Given the description of an element on the screen output the (x, y) to click on. 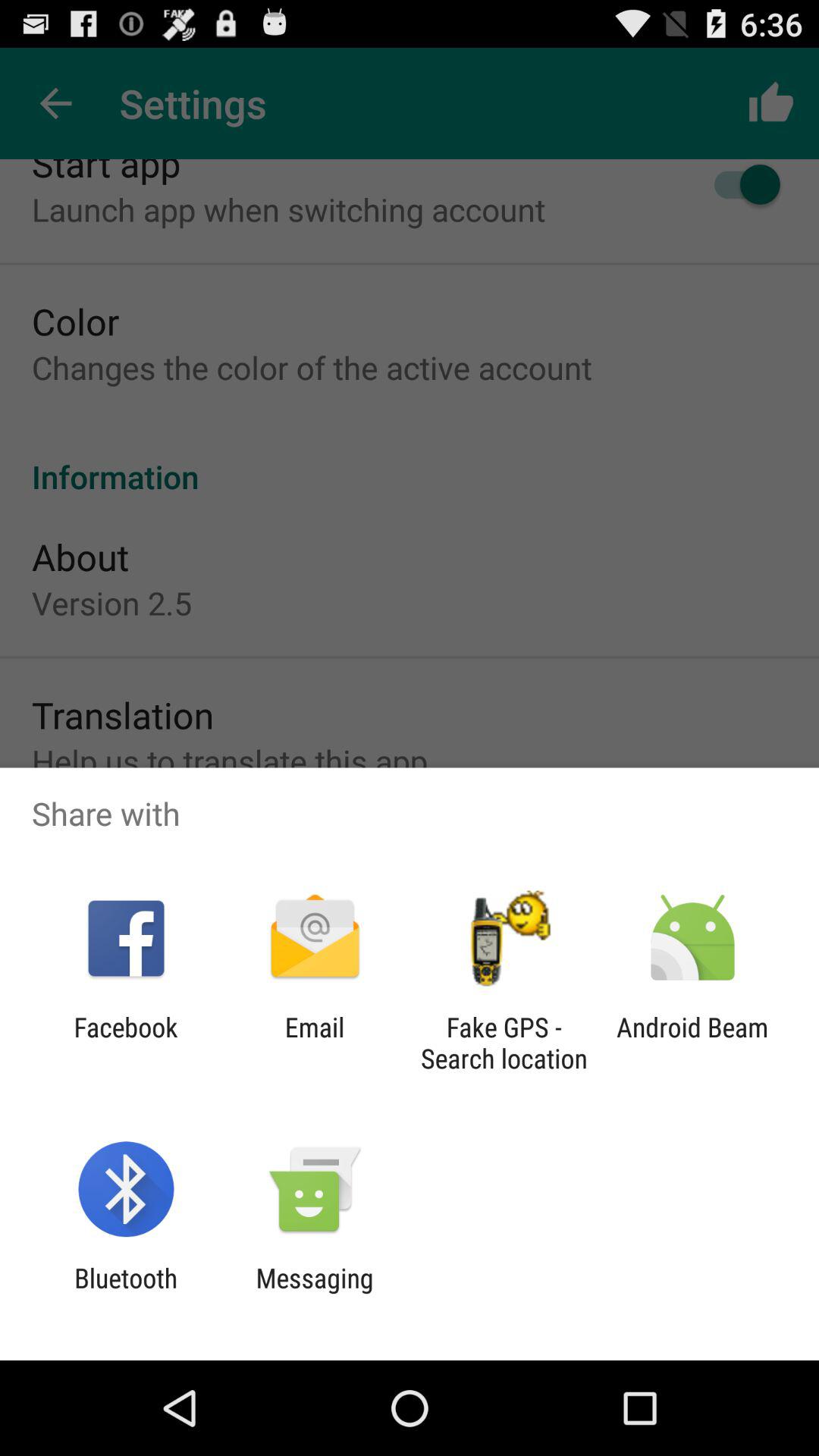
open the app next to the email item (125, 1042)
